Given the description of an element on the screen output the (x, y) to click on. 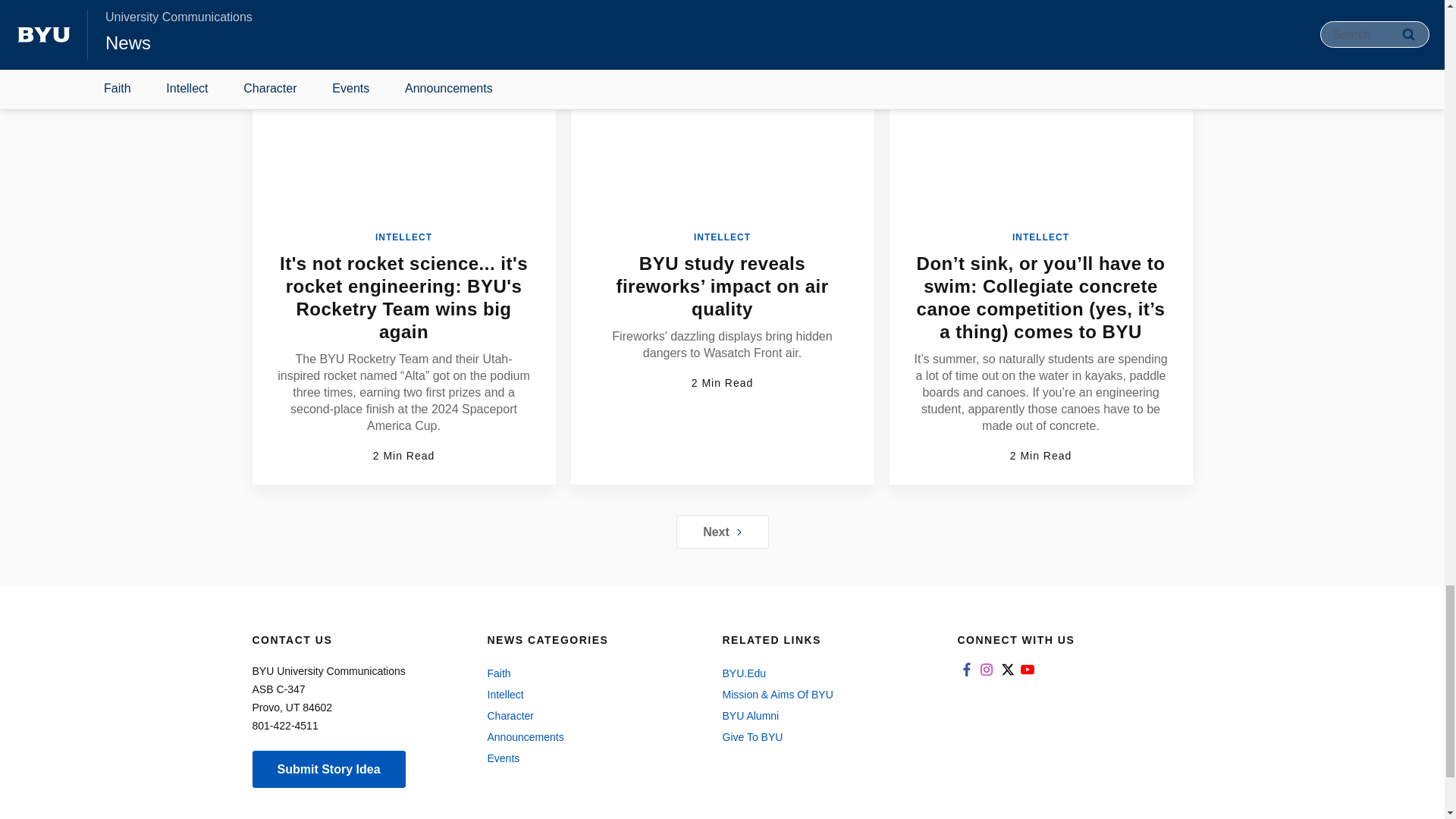
INTELLECT (403, 236)
Next (722, 531)
INTELLECT (722, 236)
Faith (588, 672)
Submit Story Idea (327, 769)
INTELLECT (1039, 236)
